Given the description of an element on the screen output the (x, y) to click on. 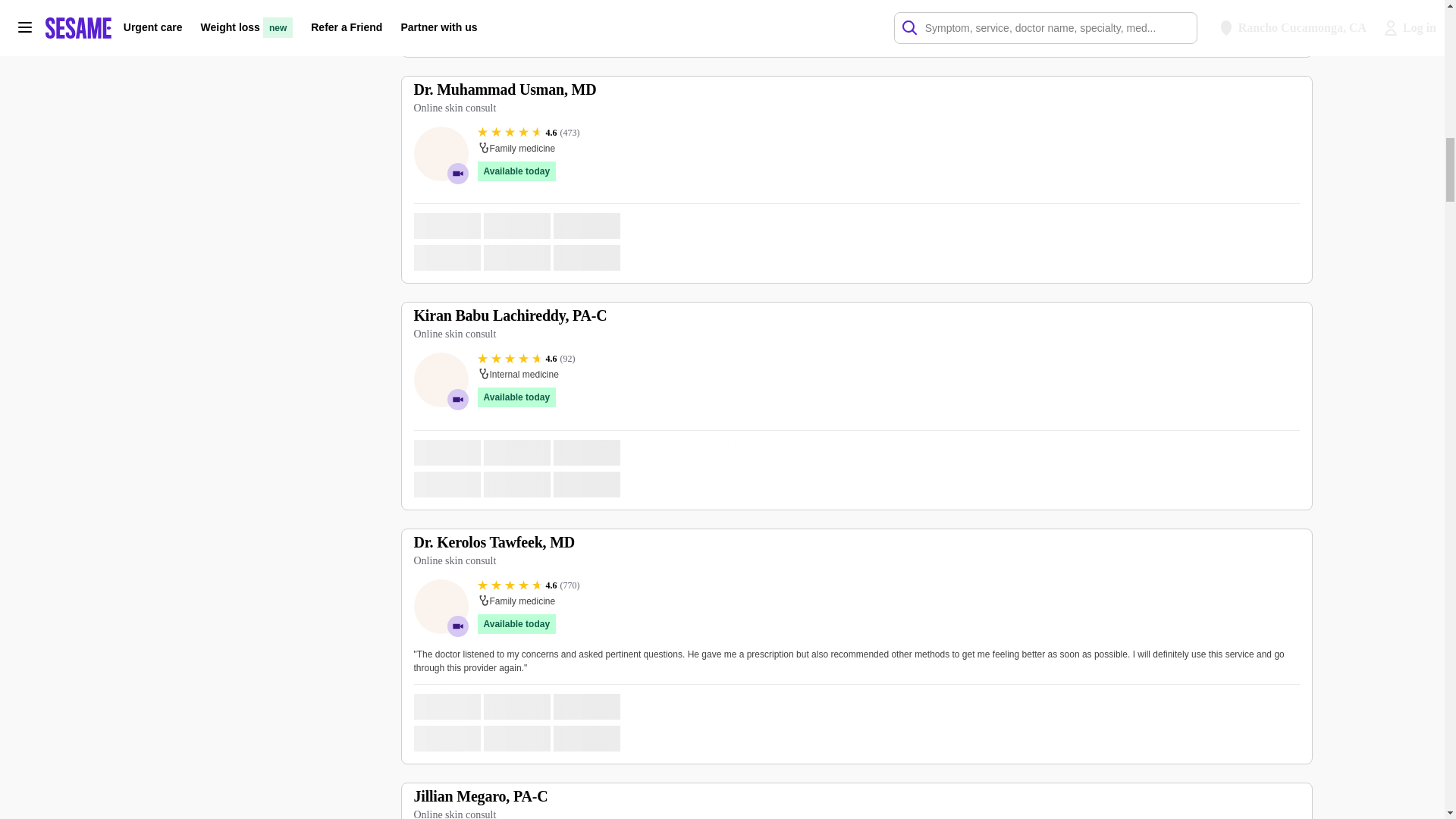
This provider has an overall rating of 4.6 out of 5 stars. (528, 585)
This provider has an overall rating of 4.6 out of 5 stars. (526, 358)
This provider has an overall rating of 4.6 out of 5 stars. (528, 132)
